Given the description of an element on the screen output the (x, y) to click on. 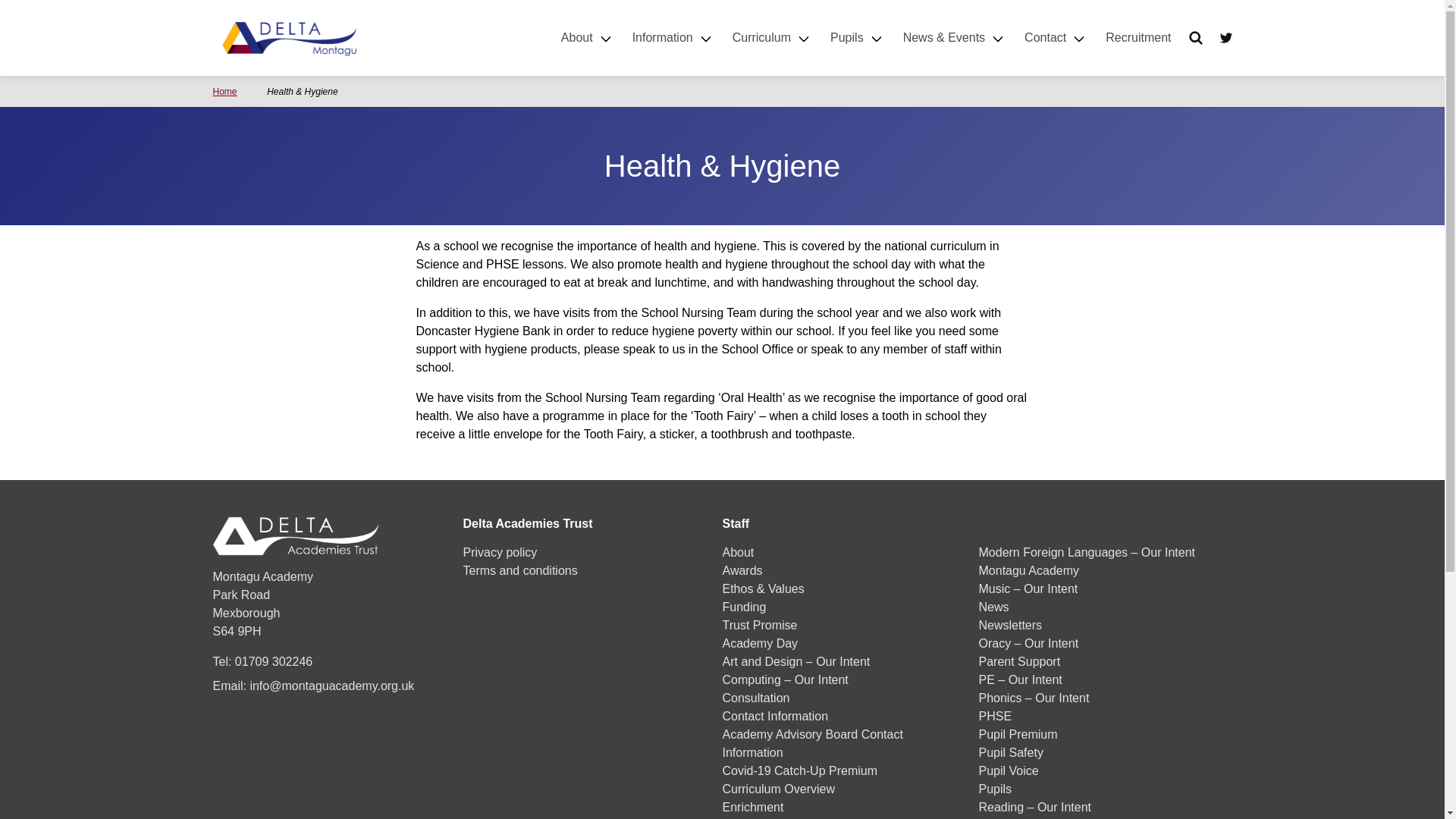
Pupils (857, 37)
About (587, 37)
About (587, 37)
Information (673, 37)
Curriculum (772, 37)
Go to home page (288, 36)
Information (673, 37)
